Given the description of an element on the screen output the (x, y) to click on. 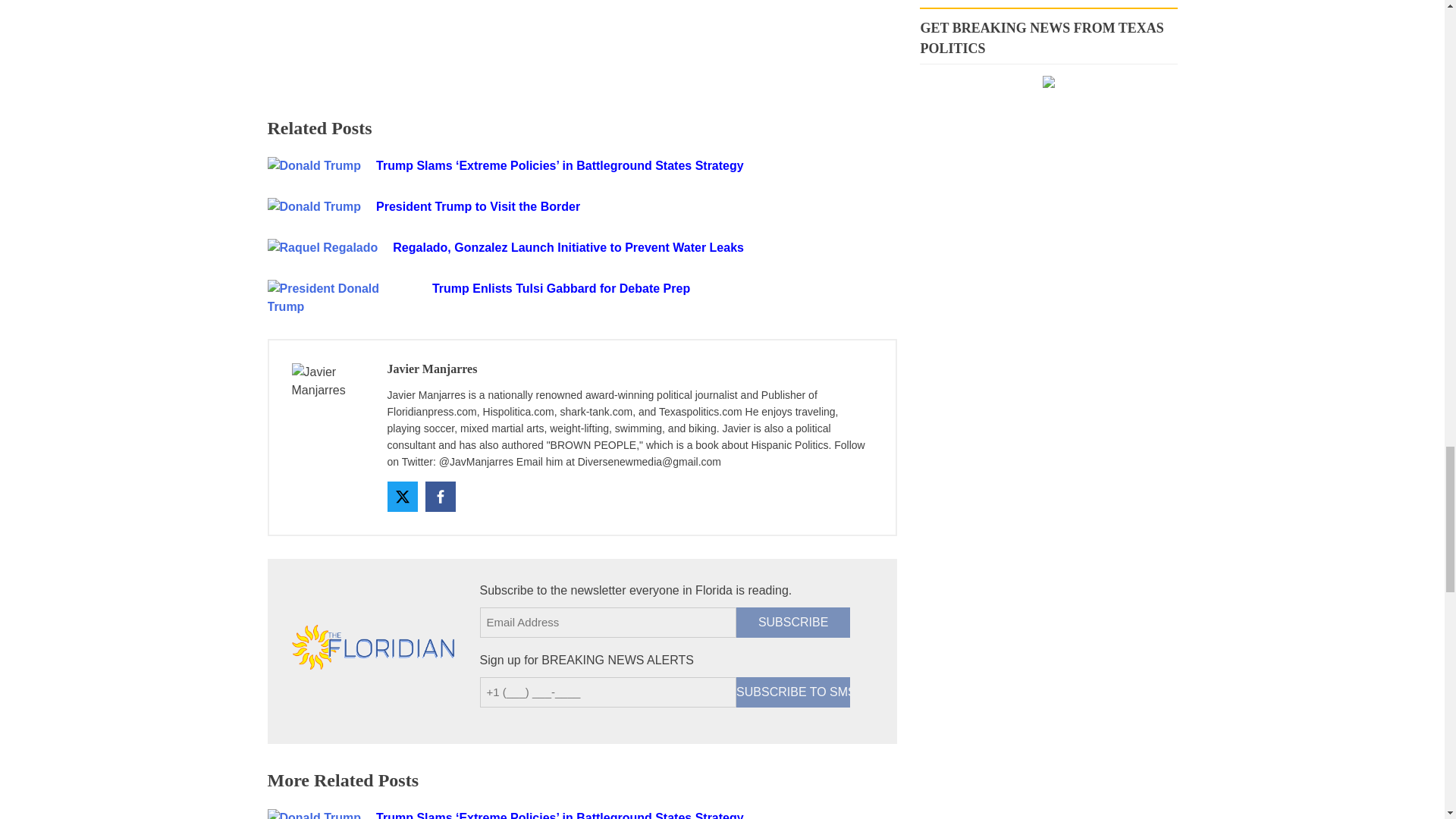
SUBSCRIBE (793, 622)
President Trump to Visit the Border (611, 207)
Trump Enlists Tulsi Gabbard for Debate Prep (664, 289)
Regalado, Gonzalez Launch Initiative to Prevent Water Leaks (628, 248)
SUBSCRIBE (793, 622)
SUBSCRIBE TO SMS (793, 692)
SUBSCRIBE TO SMS (793, 692)
